Given the description of an element on the screen output the (x, y) to click on. 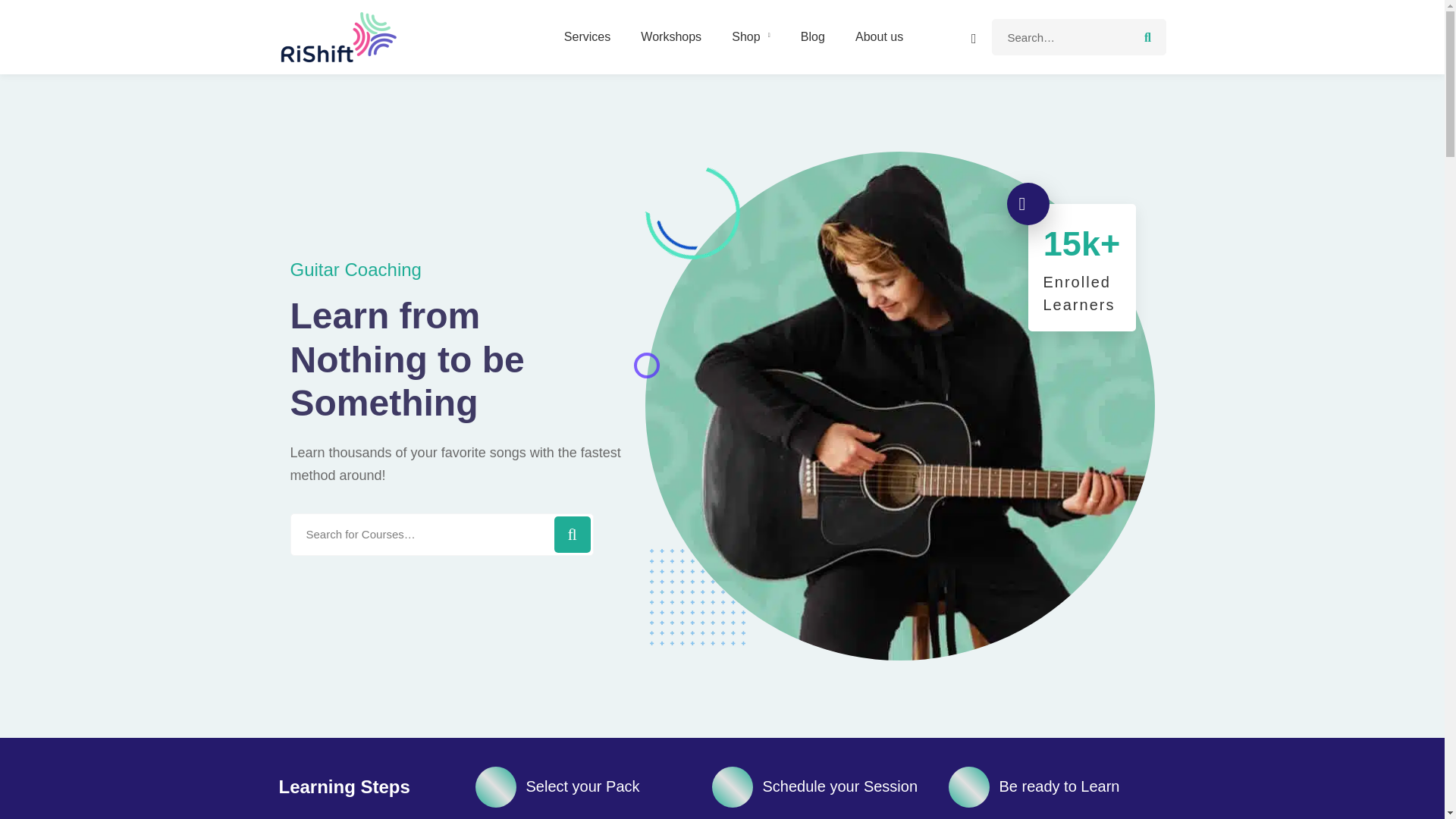
Workshops (670, 36)
Search (440, 534)
Shop (750, 36)
About us (879, 36)
Services (587, 36)
Search for: (1078, 36)
